Given the description of an element on the screen output the (x, y) to click on. 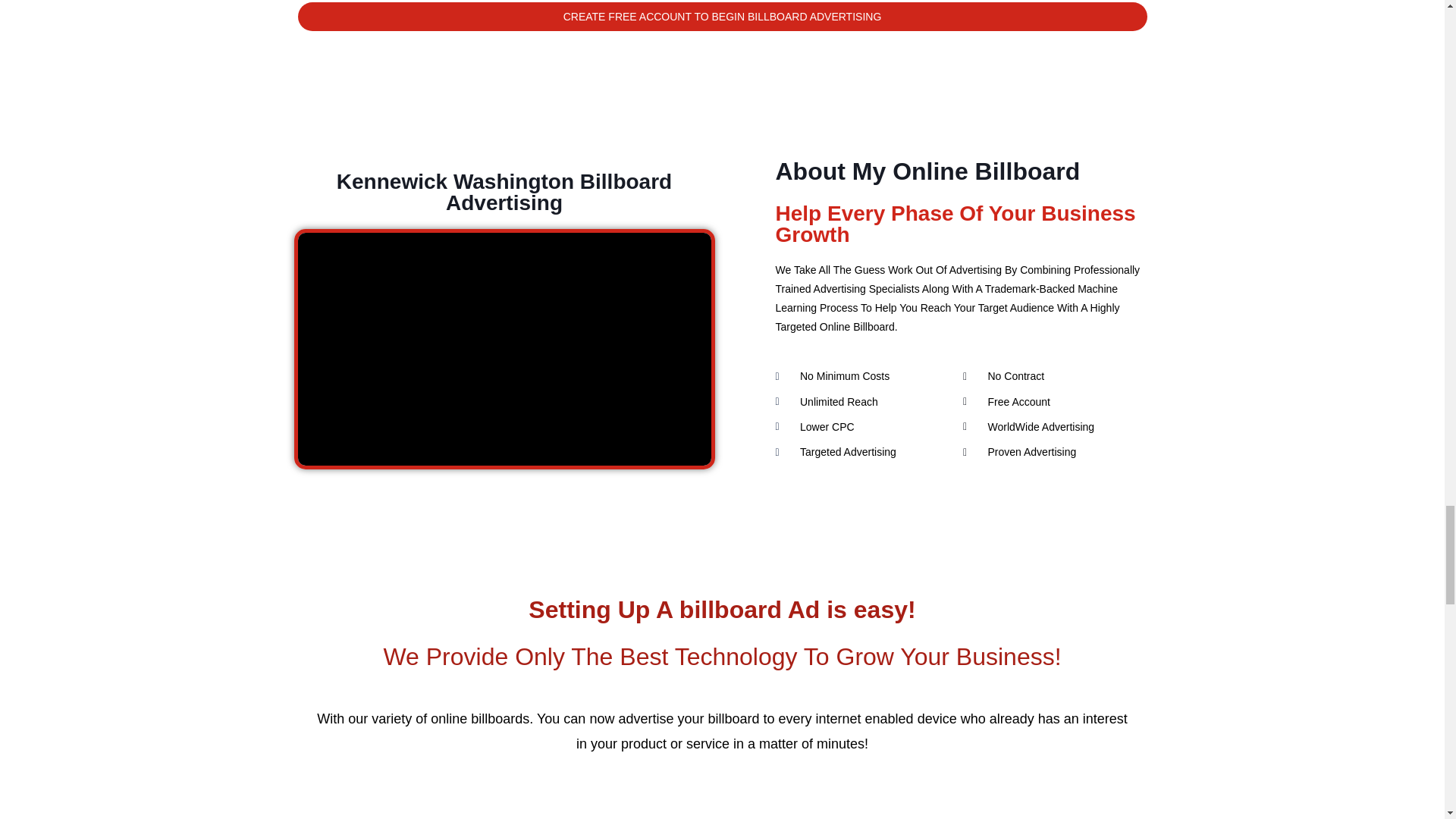
vimeo Video Player (503, 349)
CREATE FREE ACCOUNT TO BEGIN BILLBOARD ADVERTISING (722, 16)
